Given the description of an element on the screen output the (x, y) to click on. 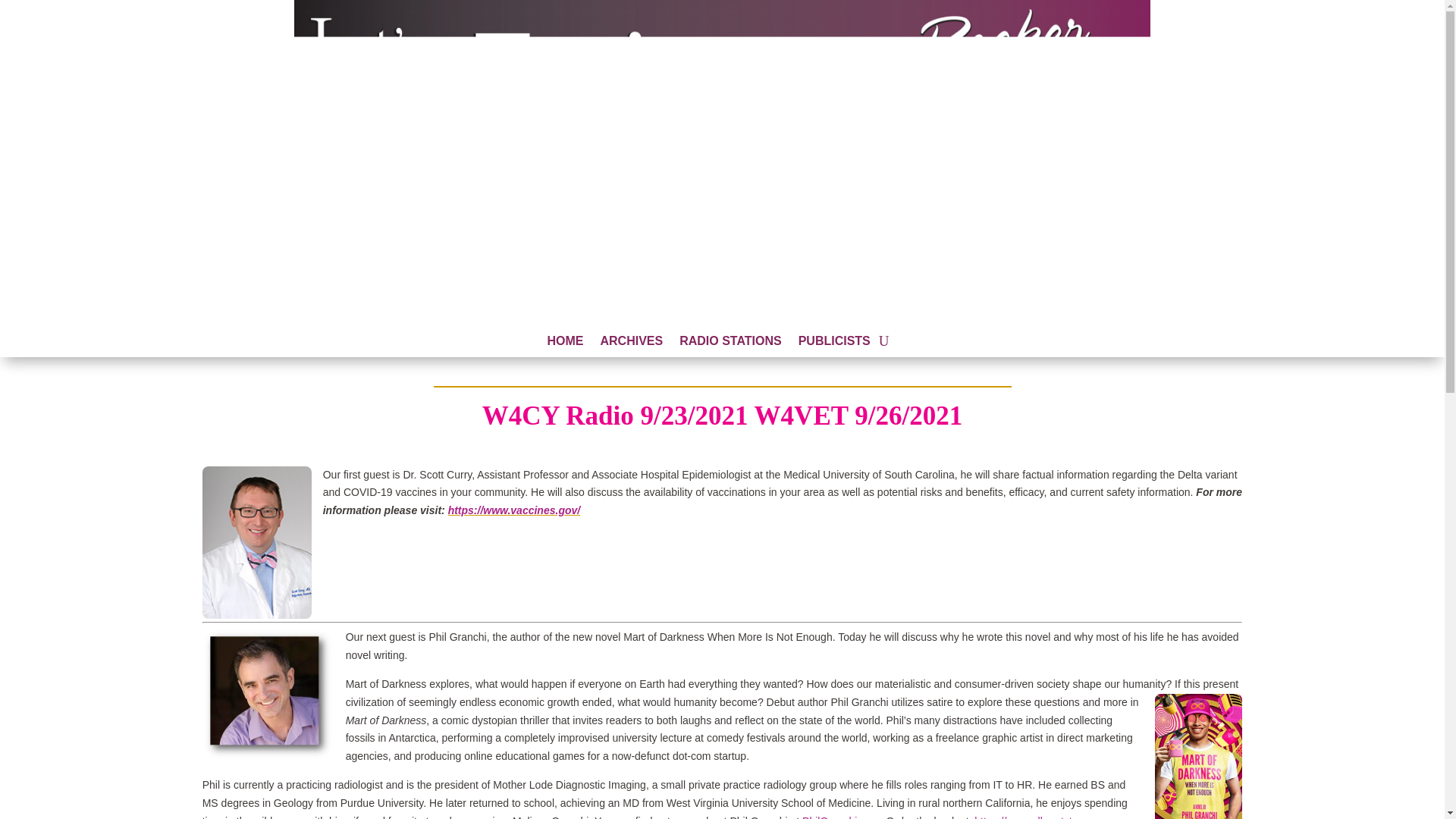
RADIO STATIONS (730, 344)
PhilGranchi.com (841, 816)
HOME (565, 344)
PUBLICISTS (833, 344)
ARCHIVES (630, 344)
